Given the description of an element on the screen output the (x, y) to click on. 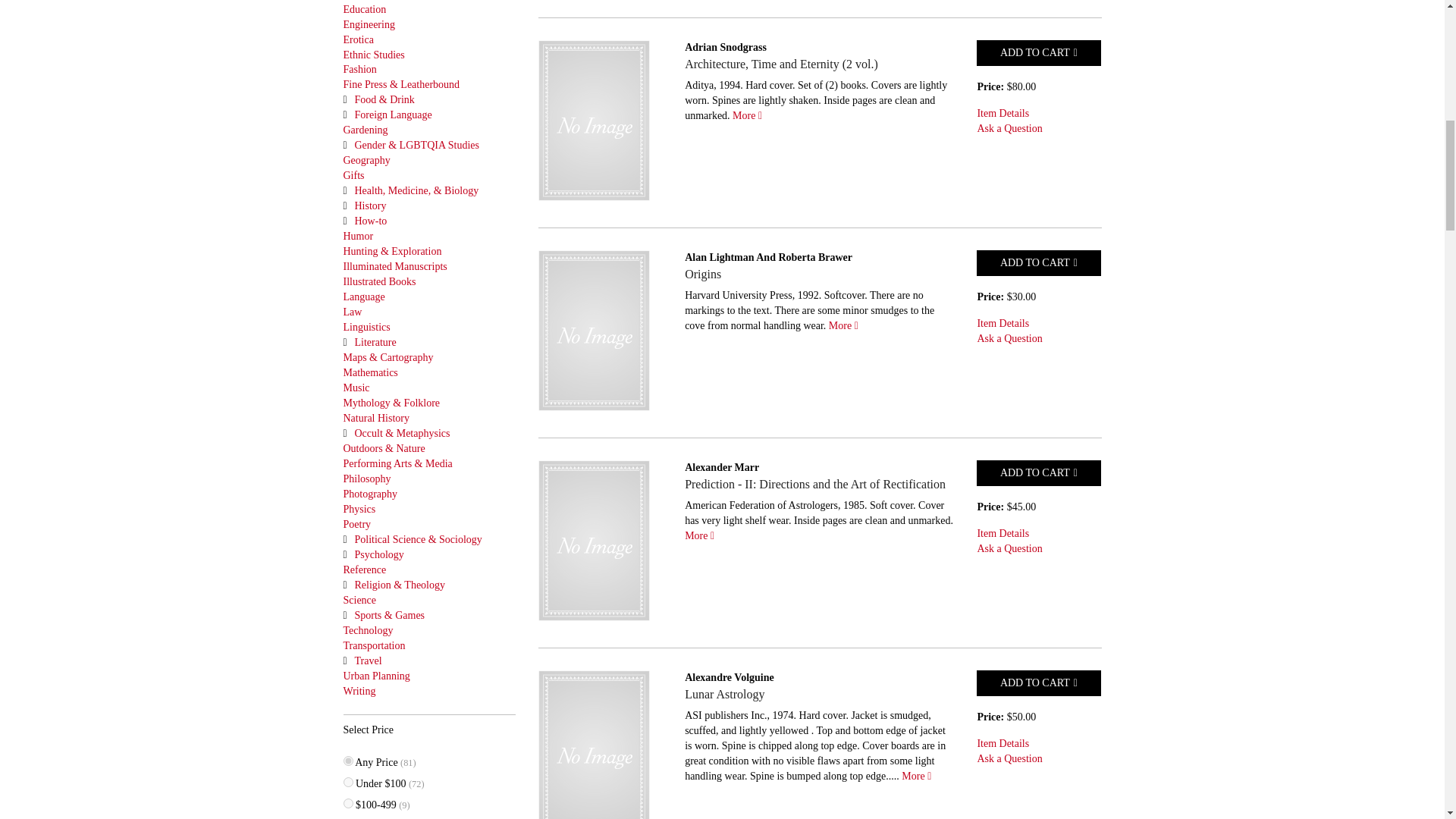
, (347, 760)
100,499 (347, 803)
,99 (347, 782)
